Given the description of an element on the screen output the (x, y) to click on. 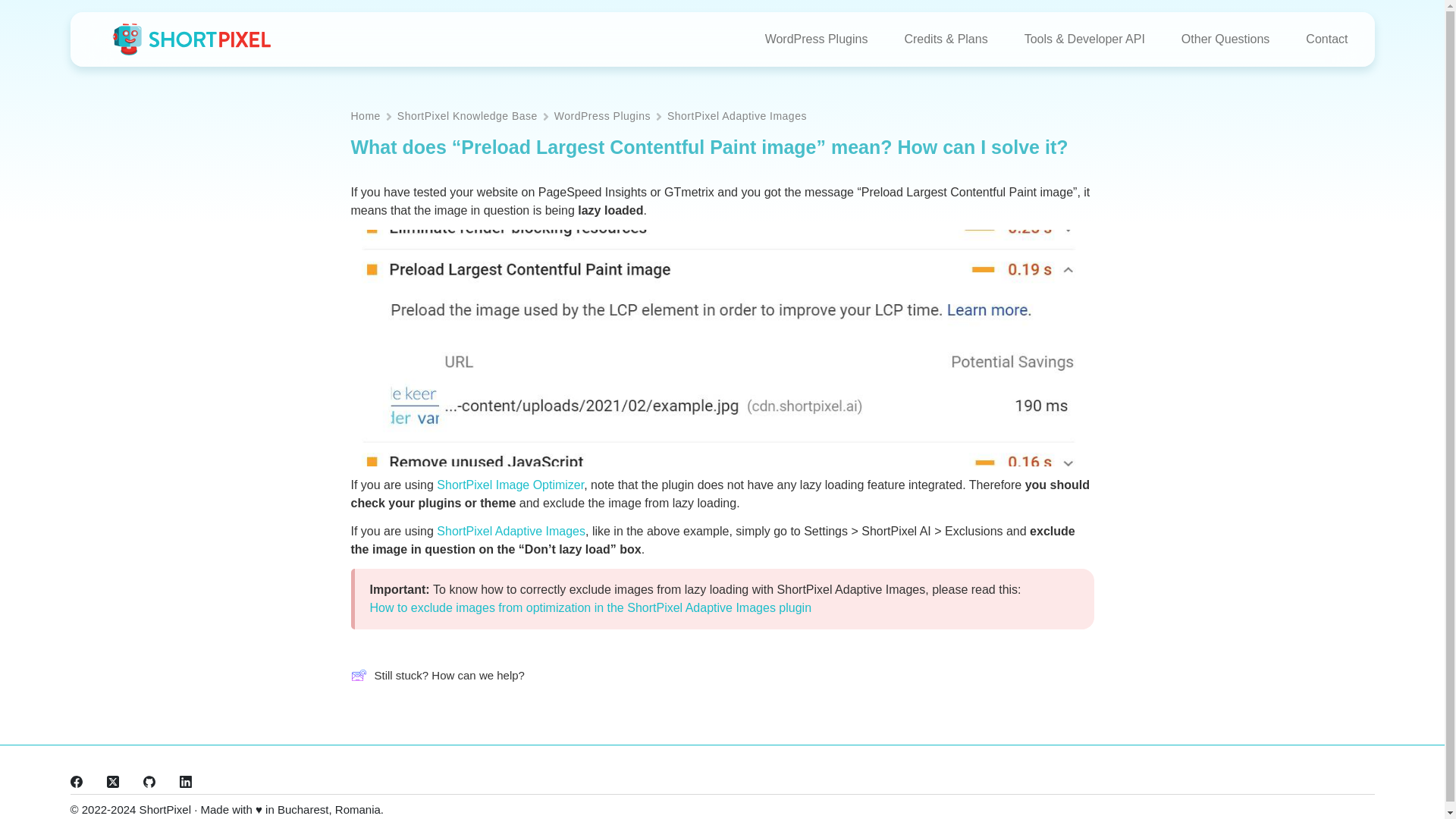
ShortPixel Knowledge Base (467, 116)
Still stuck? How can we help? (437, 675)
Contact (1317, 39)
Home (365, 116)
ShortPixel Adaptive Images (510, 530)
WordPress Plugins (602, 116)
ShortPixel Knowledge Base (467, 116)
WordPress Plugins (816, 39)
Home (365, 116)
Other Questions (1225, 39)
ShortPixel Adaptive Images (736, 116)
ShortPixel Adaptive Images (736, 116)
ShortPixel Image Optimizer (509, 484)
Skip to content (15, 7)
